Given the description of an element on the screen output the (x, y) to click on. 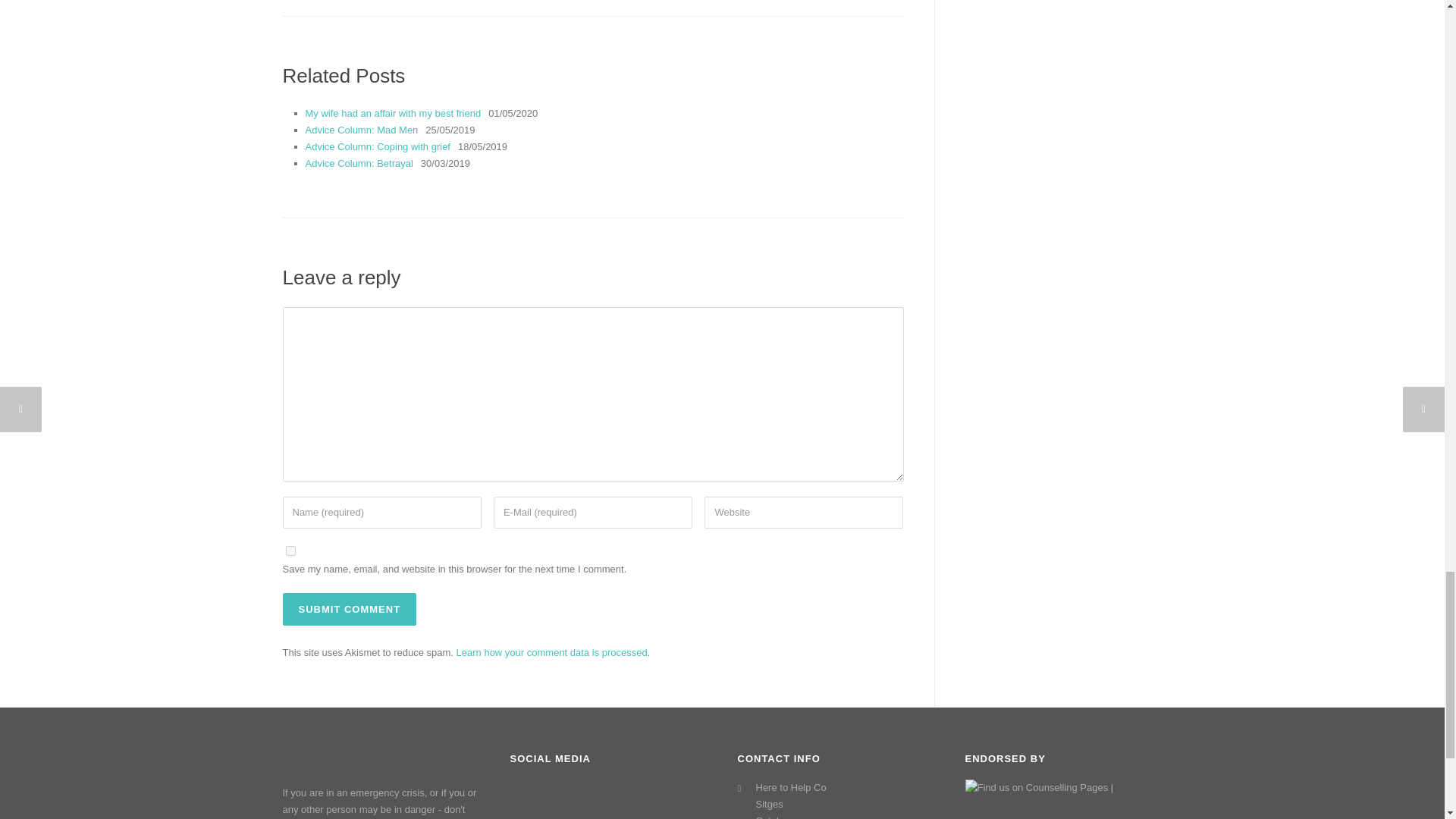
yes (290, 551)
Link to Advice Column: Mad Men (360, 129)
Website (803, 512)
Link to My wife had an affair with my best friend (392, 112)
Submit Comment (349, 608)
Link to Advice Column: Coping with grief (376, 146)
